Given the description of an element on the screen output the (x, y) to click on. 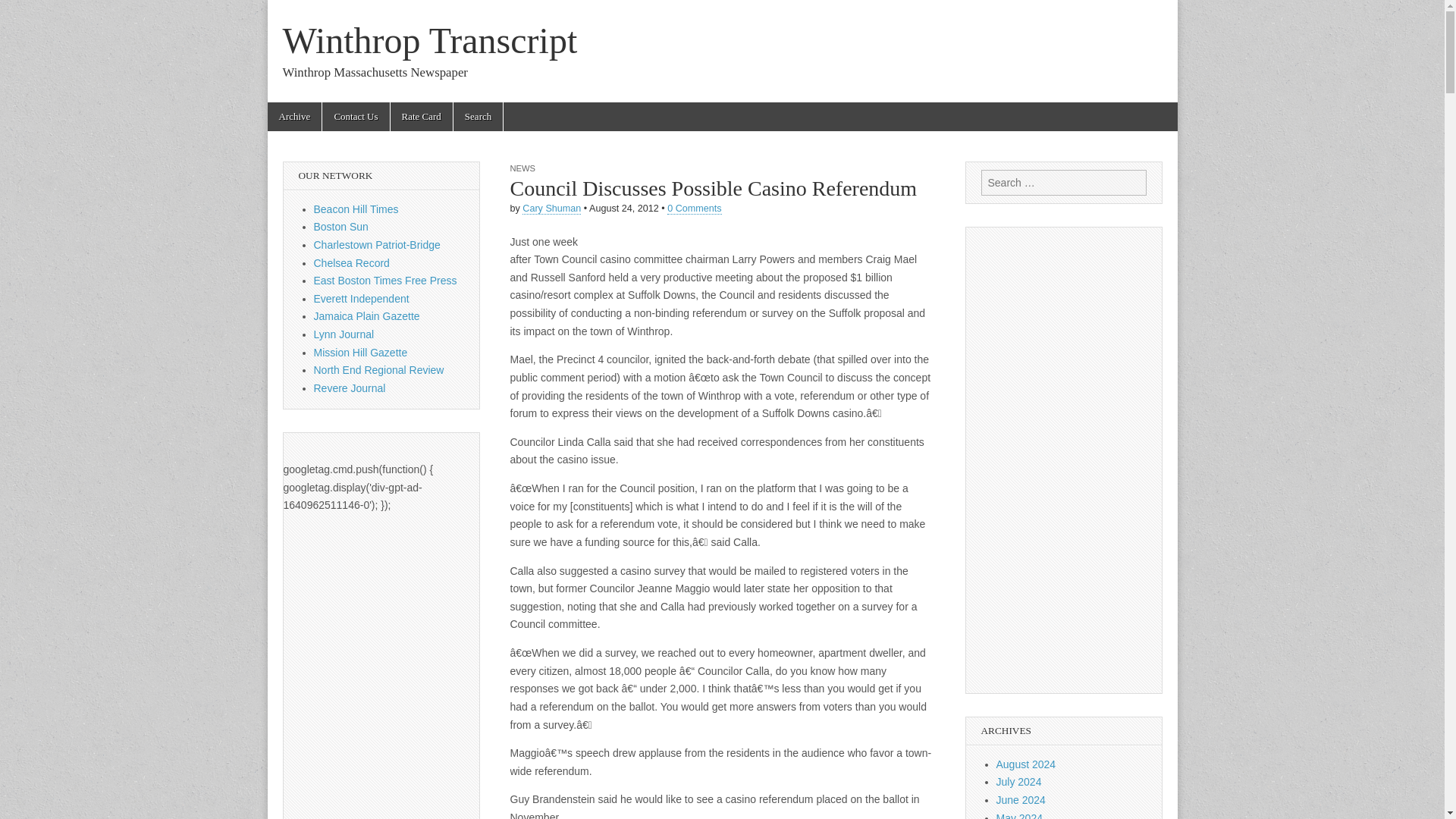
Posts by Cary Shuman (551, 208)
Mission Hill Gazette (360, 352)
East Boston Times Free Press (385, 280)
Jamaica Plain Gazette (367, 316)
Beacon Hill Times (356, 209)
Rate Card (421, 116)
Charlestown Patriot-Bridge (377, 244)
Search (23, 12)
Contact Us (354, 116)
Revere Journal (349, 387)
NEWS (522, 167)
Lynn Journal (344, 334)
Winthrop Transcript (429, 40)
Everett Independent (361, 298)
